Given the description of an element on the screen output the (x, y) to click on. 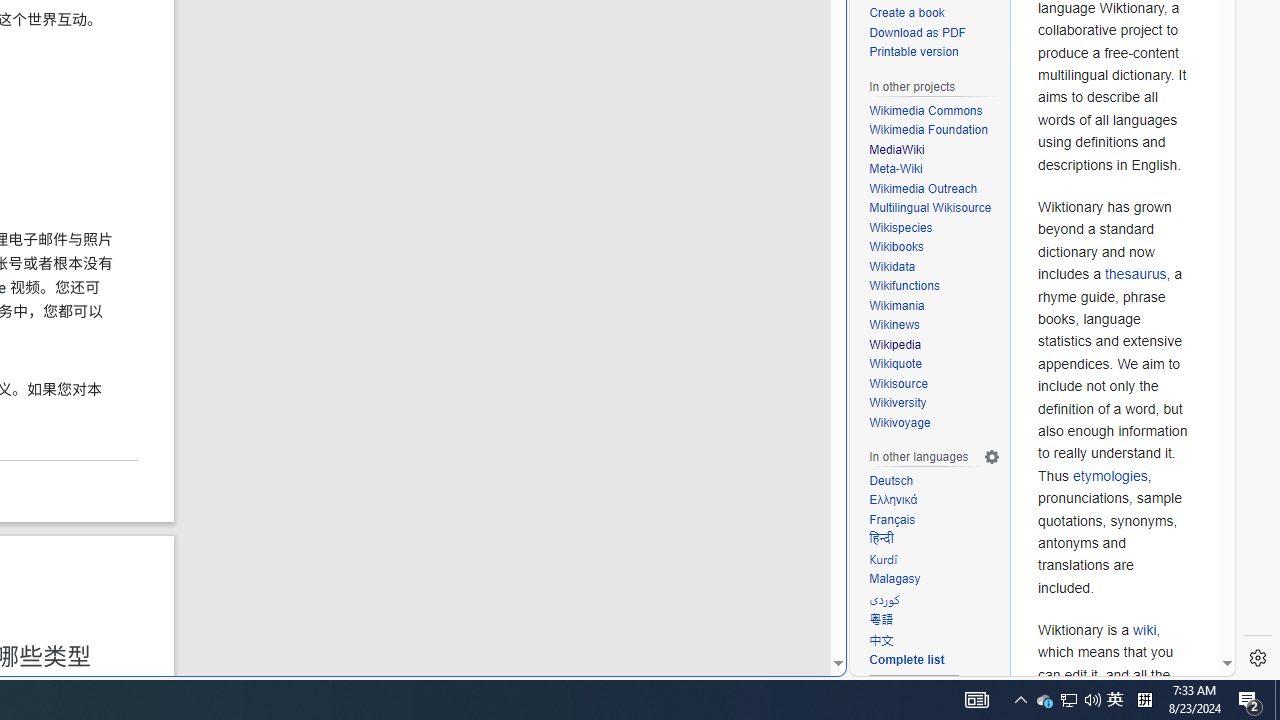
Malagasy (895, 578)
Meta-Wiki (934, 169)
Wikisource (934, 384)
Multilingual Wikisource (930, 208)
Wikidata (892, 266)
Complete list (934, 660)
Malagasy (934, 579)
Deutsch (891, 480)
etymologies (1110, 475)
Wikispecies (901, 227)
